Given the description of an element on the screen output the (x, y) to click on. 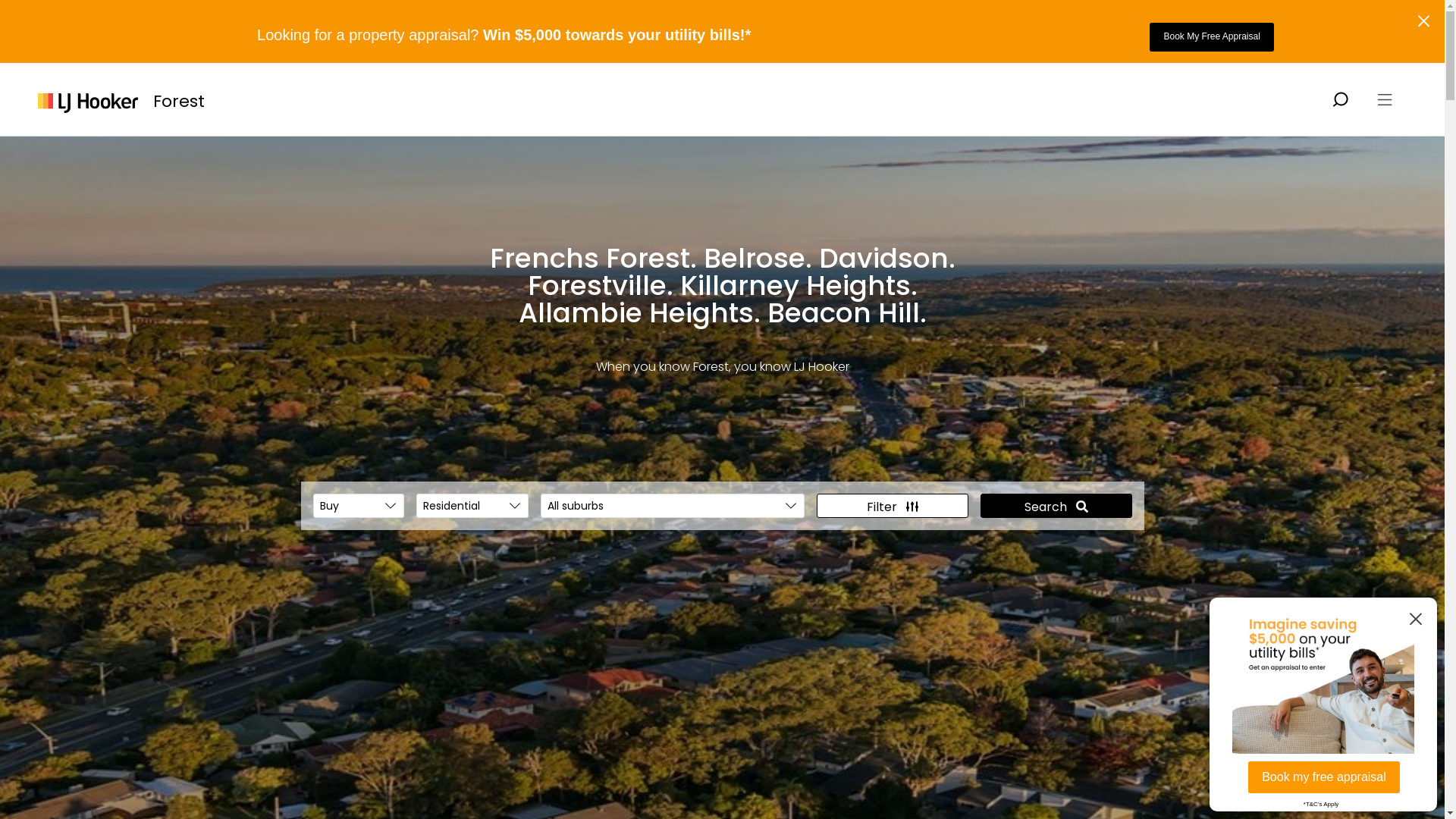
Search Element type: text (1055, 505)
Filter Element type: text (891, 505)
